Given the description of an element on the screen output the (x, y) to click on. 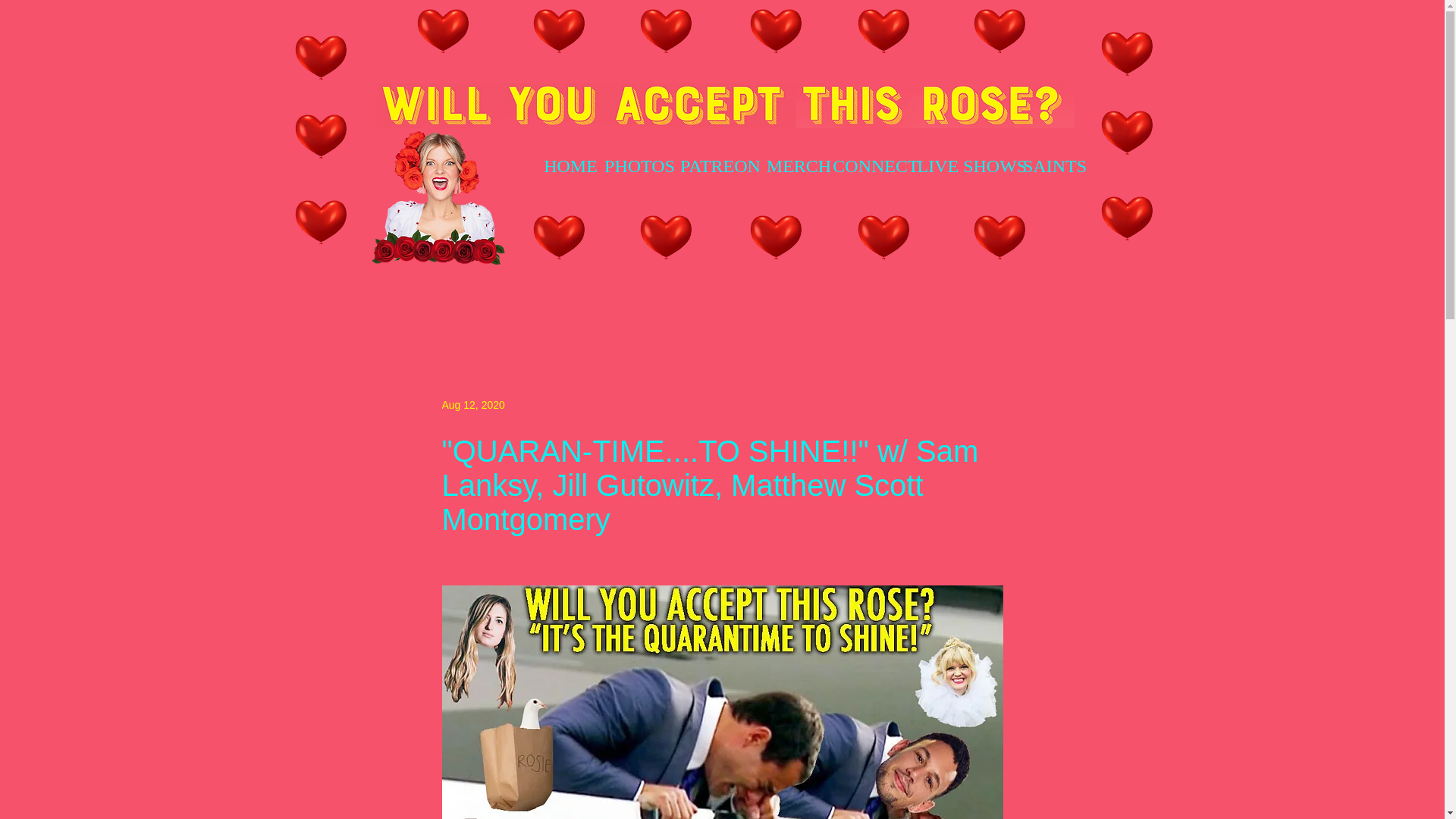
MERCH (799, 166)
PATREON (719, 166)
Aug 12, 2020 (472, 404)
PHOTOS (639, 166)
SAINTS (1055, 166)
HOME (570, 166)
CONNECT (875, 166)
LIVE SHOWS (972, 166)
